Given the description of an element on the screen output the (x, y) to click on. 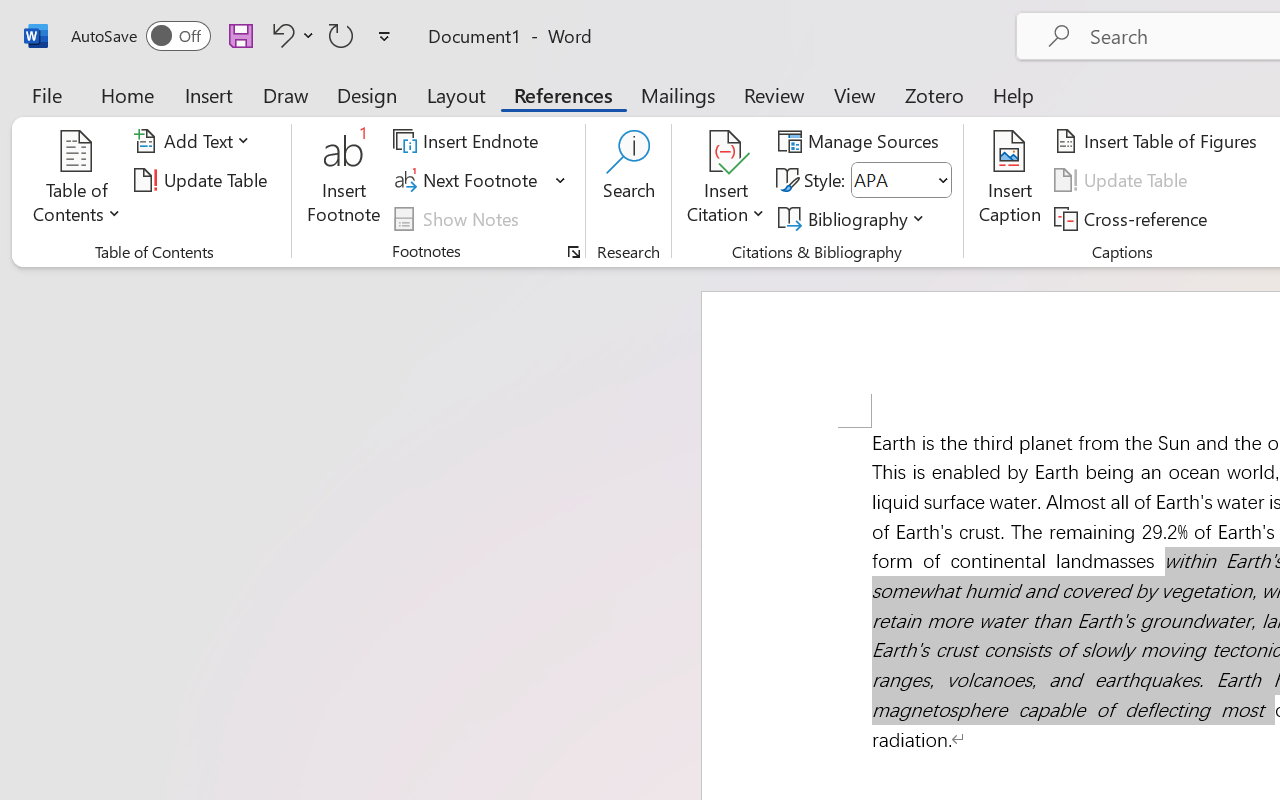
Update Table... (204, 179)
Insert Endnote (468, 141)
Bibliography (854, 218)
Undo Italic (280, 35)
Next Footnote (479, 179)
Insert Footnote (344, 179)
Search (628, 179)
Next Footnote (468, 179)
Table of Contents (77, 179)
Style (892, 179)
